Given the description of an element on the screen output the (x, y) to click on. 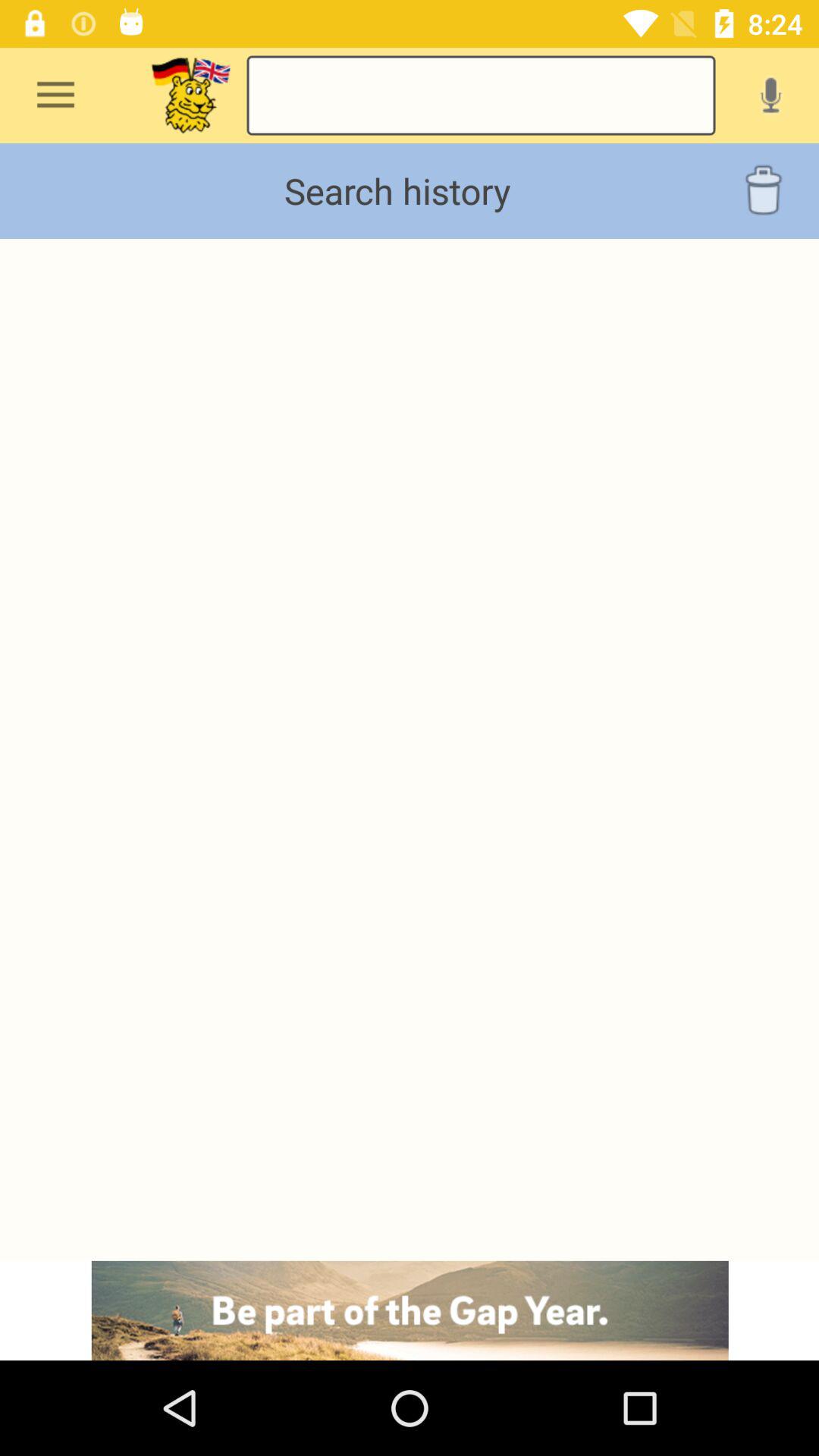
search the history (480, 95)
